Given the description of an element on the screen output the (x, y) to click on. 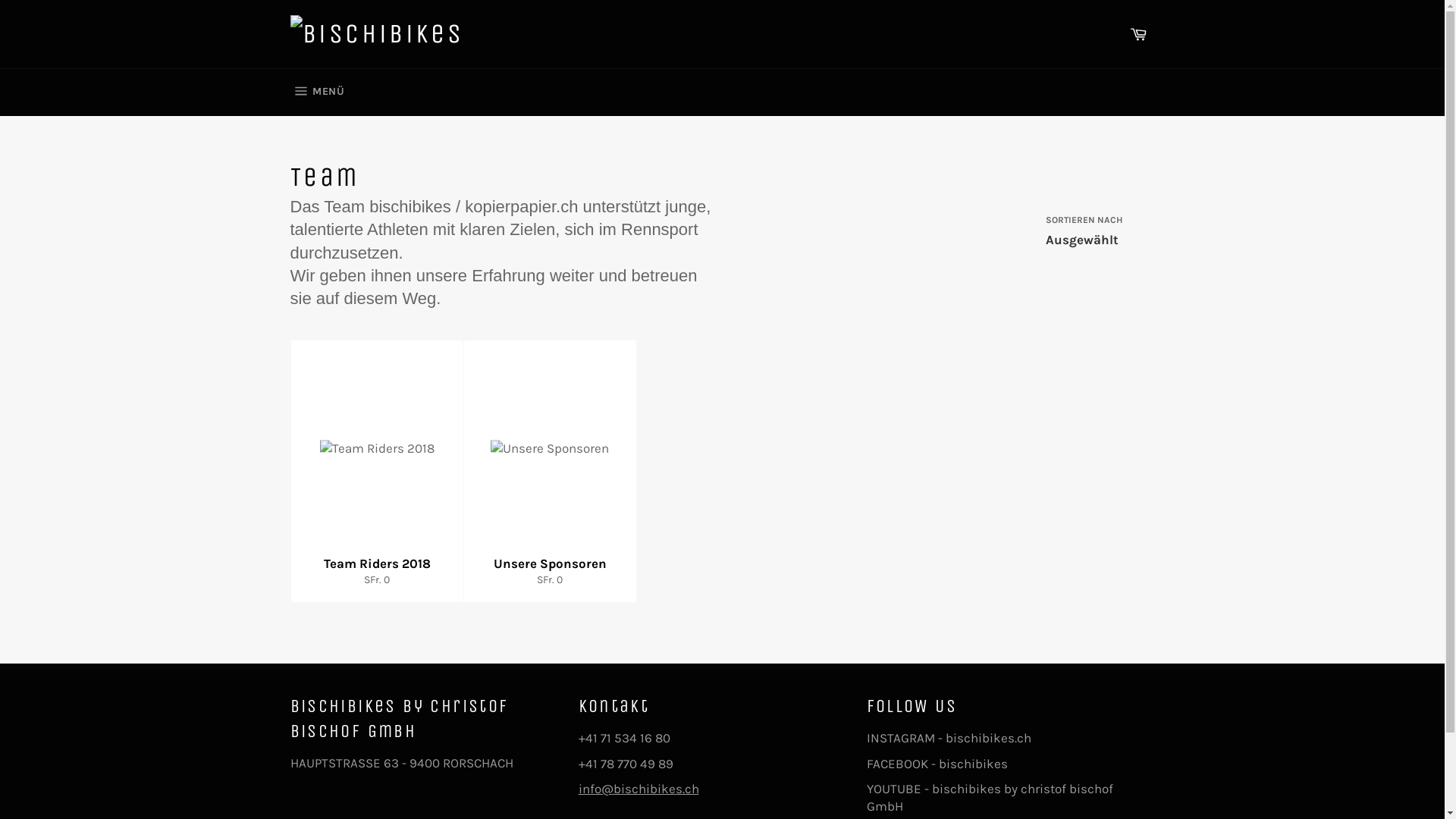
Team Riders 2018
Normaler Preis
SFr. 0 Element type: text (375, 471)
Einkaufswagen Element type: text (1138, 34)
Unsere Sponsoren
Normaler Preis
SFr. 0 Element type: text (548, 471)
